Given the description of an element on the screen output the (x, y) to click on. 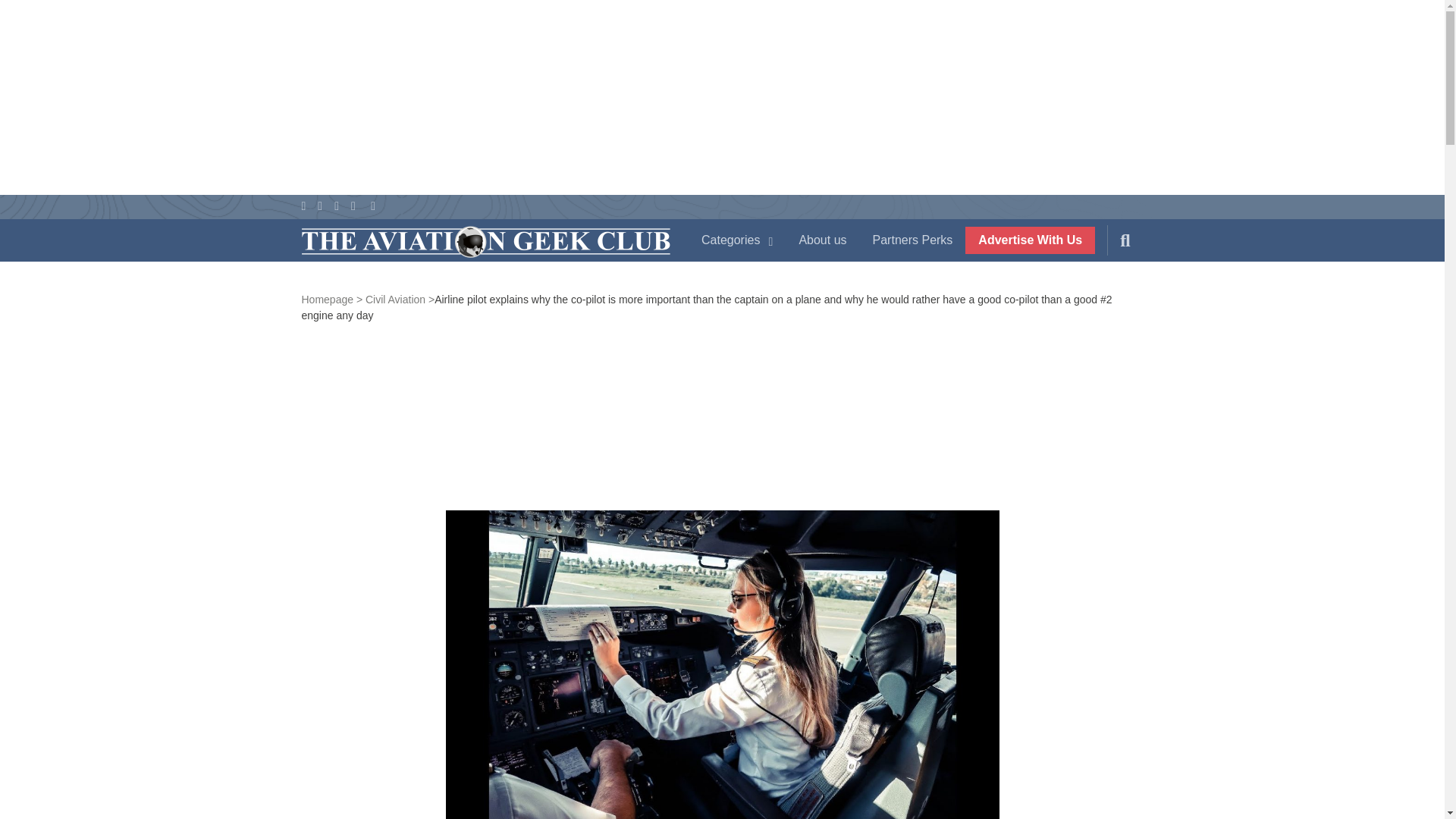
Advertise With Us (1029, 239)
Categories (737, 239)
Back to Home (485, 242)
About us (822, 239)
Partners Perks (913, 239)
Back to homepage (331, 299)
